Given the description of an element on the screen output the (x, y) to click on. 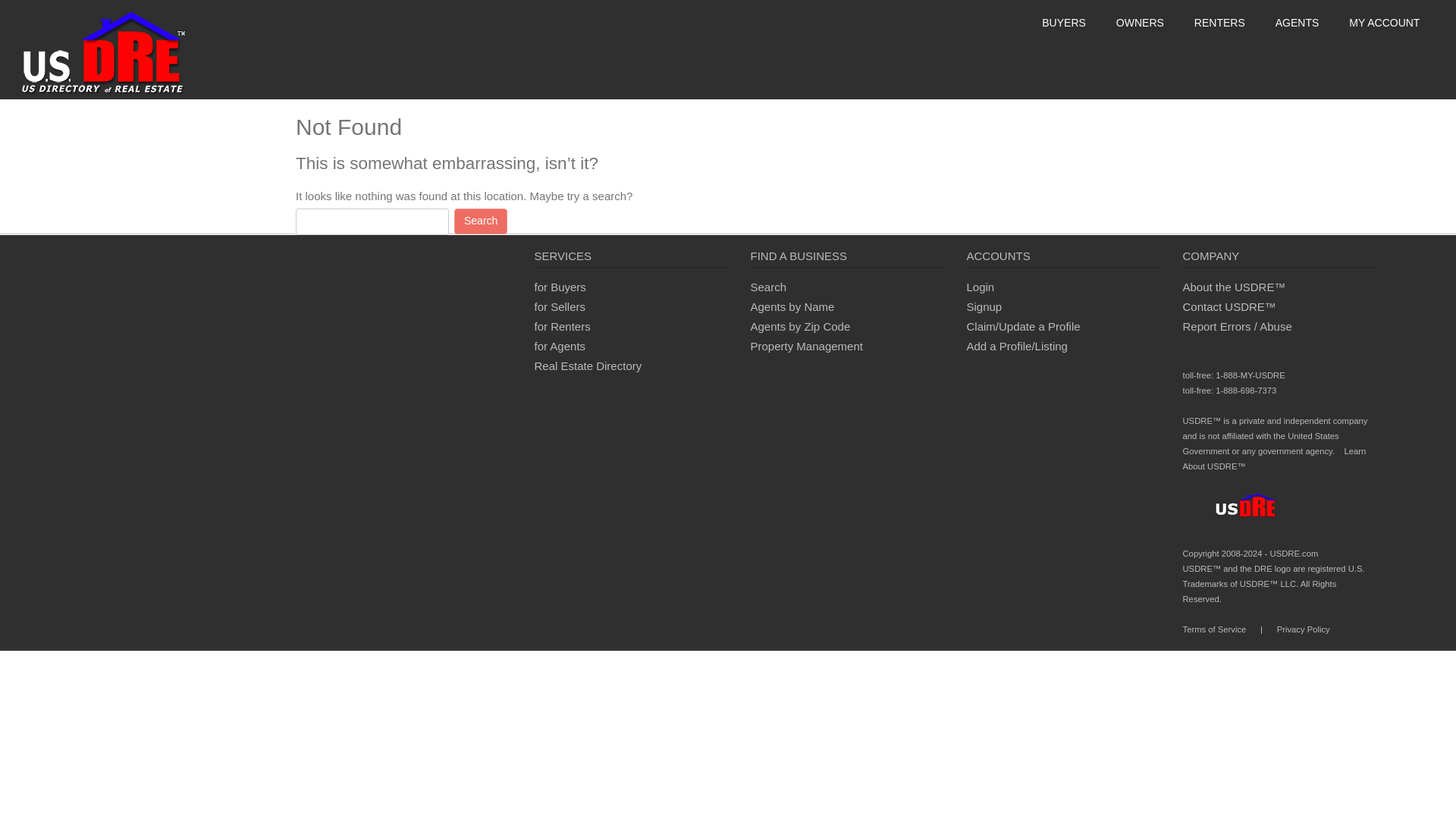
RENTERS (1218, 22)
Search (769, 286)
Agents by Name (792, 306)
Search (480, 221)
Agents by Zip Code (800, 326)
AGENTS (1297, 22)
MY ACCOUNT (1386, 22)
Real Estate Directory (588, 365)
for Buyers (559, 286)
OWNERS (1139, 22)
